Given the description of an element on the screen output the (x, y) to click on. 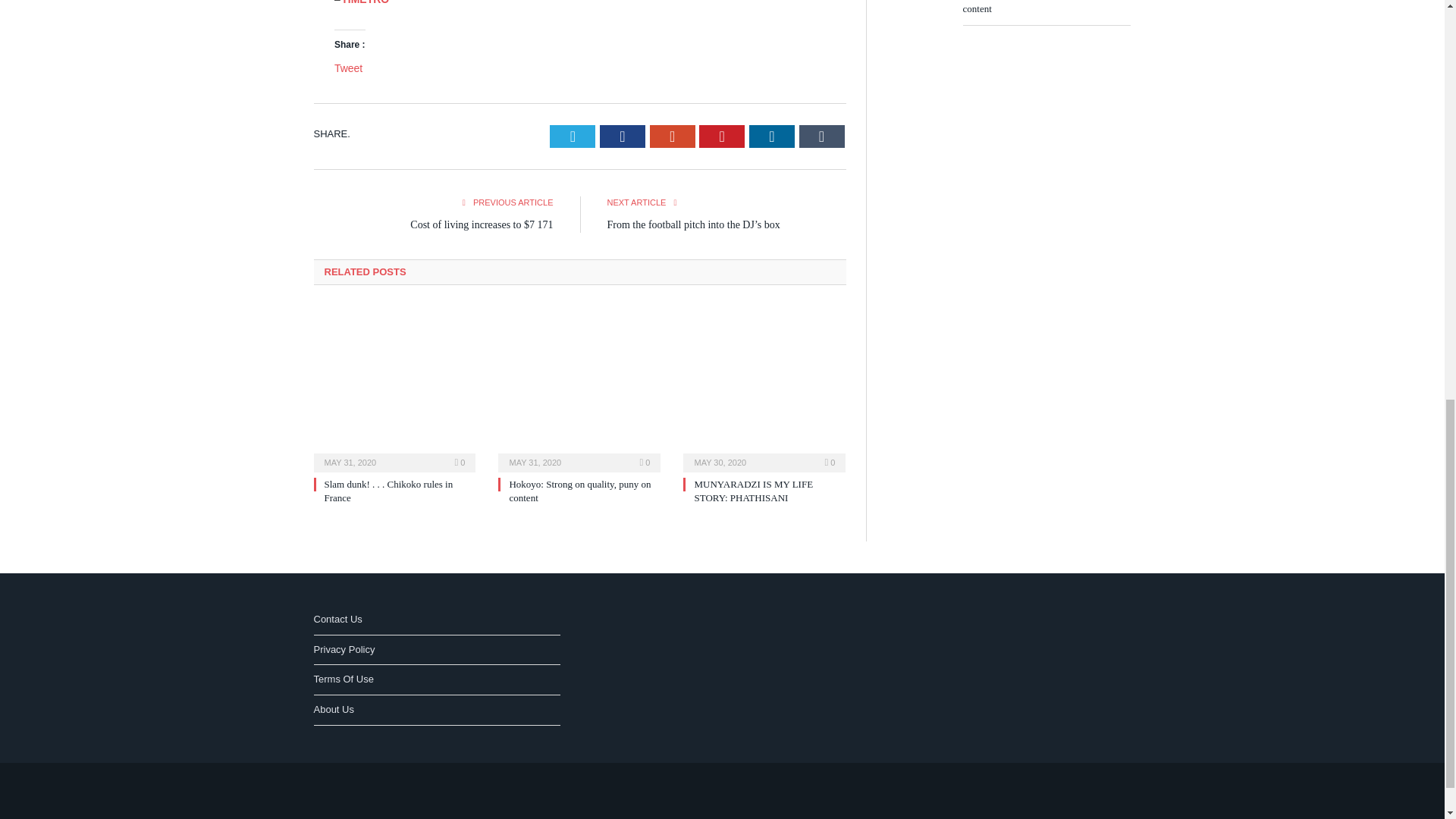
Hokoyo: Strong on quality, puny on content (579, 387)
MUNYARADZI IS MY LIFE STORY: PHATHISANI (763, 387)
HMETRO (366, 2)
Facebook (622, 136)
MUNYARADZI IS MY LIFE STORY: PHATHISANI (753, 490)
Hokoyo: Strong on quality, puny on content (579, 490)
Slam dunk! . . . Chikoko rules in France (388, 490)
Twitter (572, 136)
Slam dunk! . . . Chikoko rules in France (395, 387)
Tweet (348, 68)
